Given the description of an element on the screen output the (x, y) to click on. 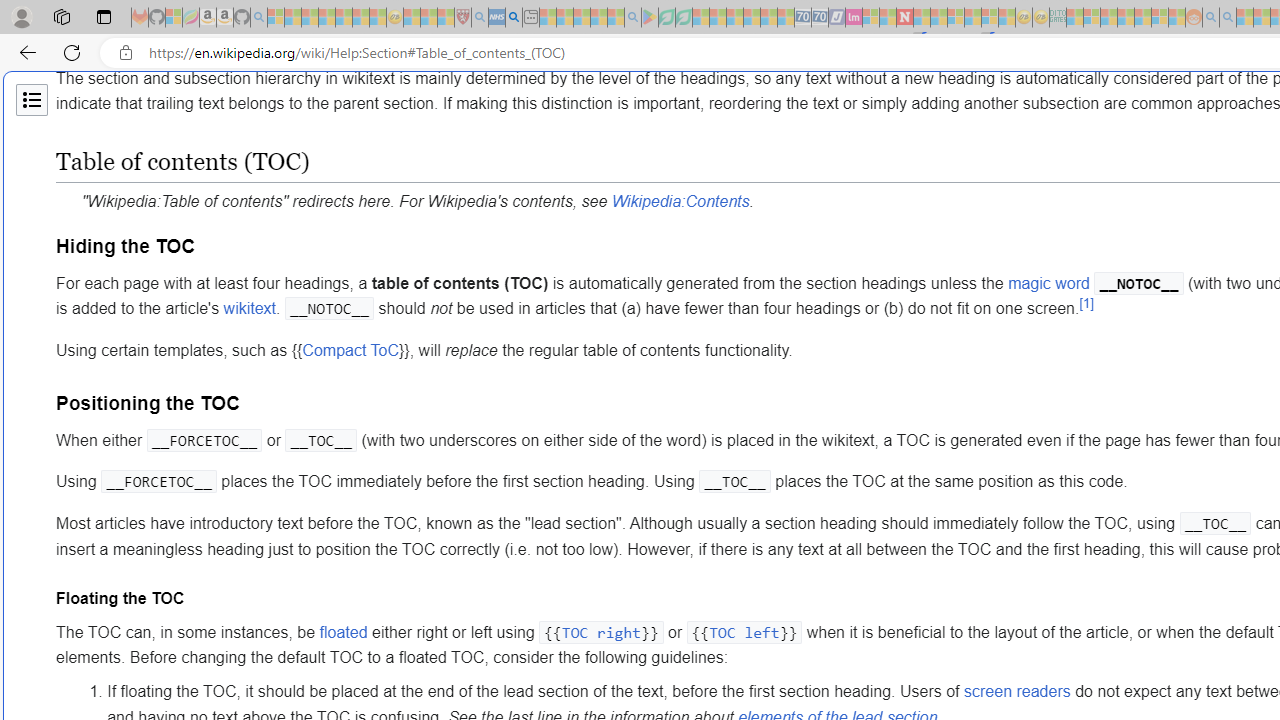
Jobs - lastminute.com Investor Portal - Sleeping (853, 17)
MSNBC - MSN - Sleeping (1074, 17)
14 Common Myths Debunked By Scientific Facts - Sleeping (938, 17)
Kinda Frugal - MSN - Sleeping (1142, 17)
google - Search - Sleeping (632, 17)
wikitext (249, 309)
Pets - MSN - Sleeping (598, 17)
